Given the description of an element on the screen output the (x, y) to click on. 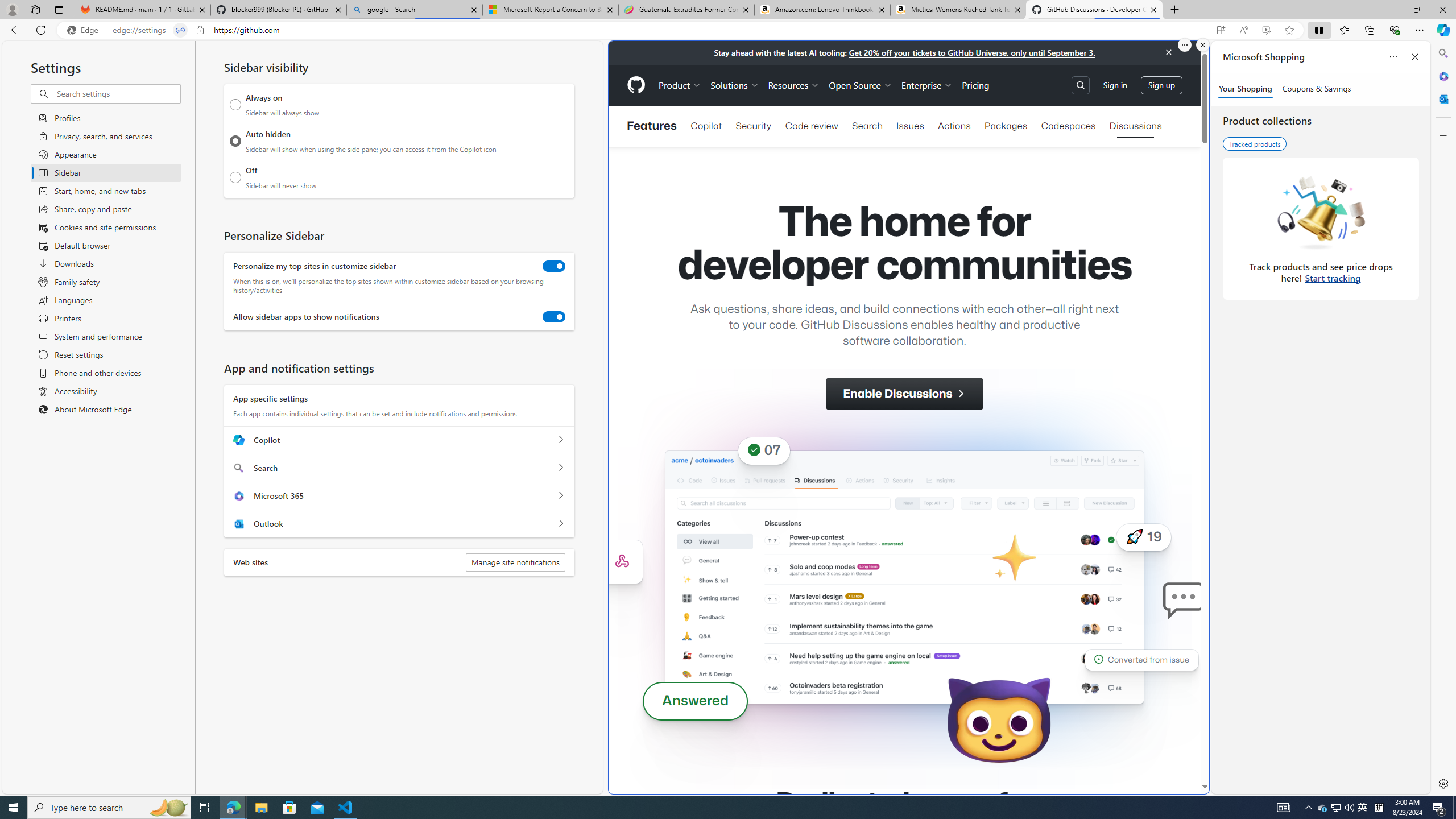
Tabs in split screen (180, 29)
Open Source (860, 84)
Sign up (1161, 84)
Discussions (1135, 125)
Personalize my top sites in customize sidebar (553, 265)
Copilot (706, 125)
More options. (1183, 45)
Enterprise (927, 84)
Product (679, 84)
Close split screen. (1202, 45)
